Given the description of an element on the screen output the (x, y) to click on. 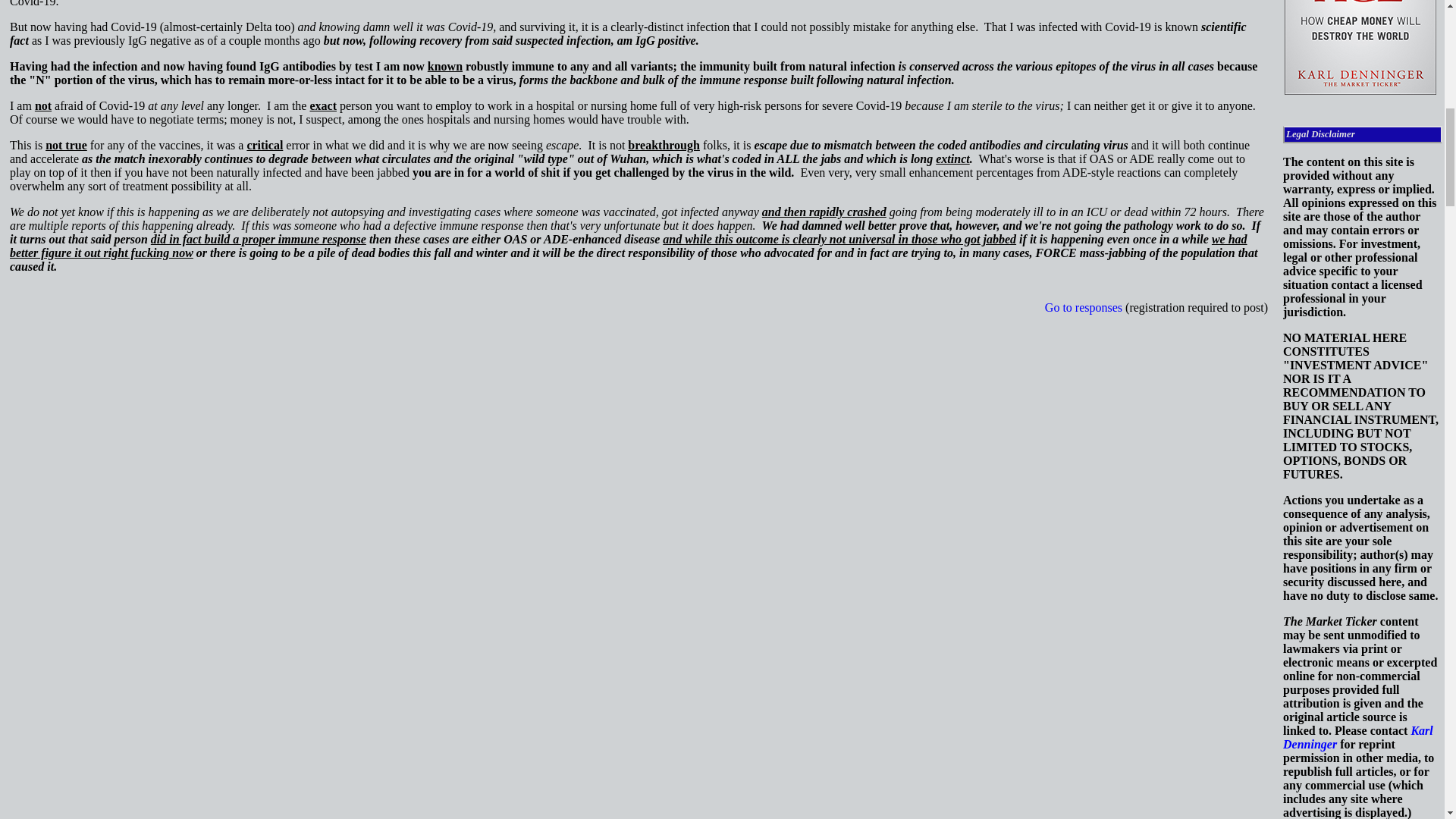
Karl Denninger (1357, 737)
Go to responses (1083, 307)
